Given the description of an element on the screen output the (x, y) to click on. 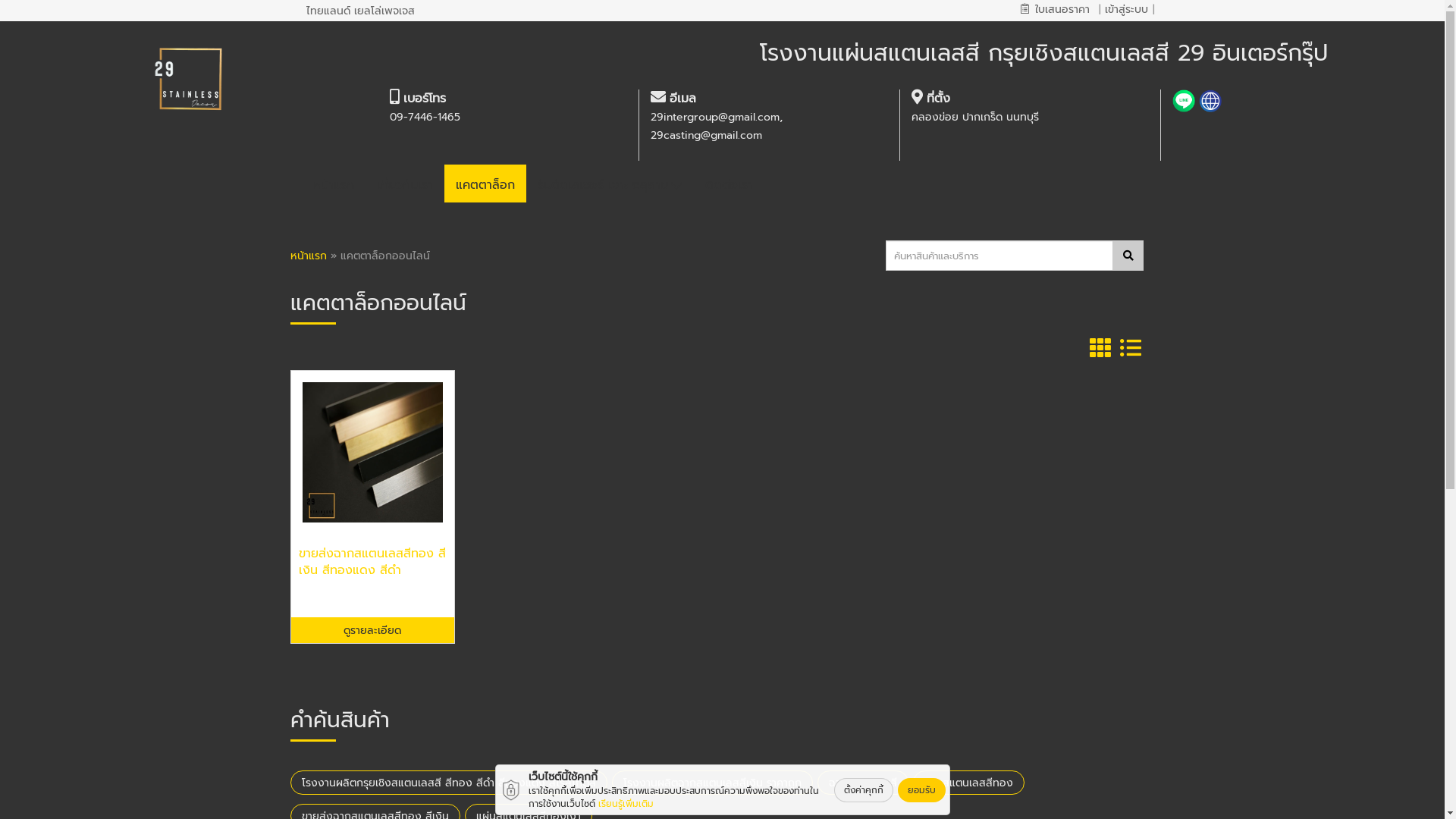
09-7446-1465 Element type: text (424, 117)
29casting@gmail.com Element type: text (706, 135)
29intergroup@gmail.com Element type: text (714, 117)
ID Line : @29stainlessdecor Element type: hover (1185, 101)
